Given the description of an element on the screen output the (x, y) to click on. 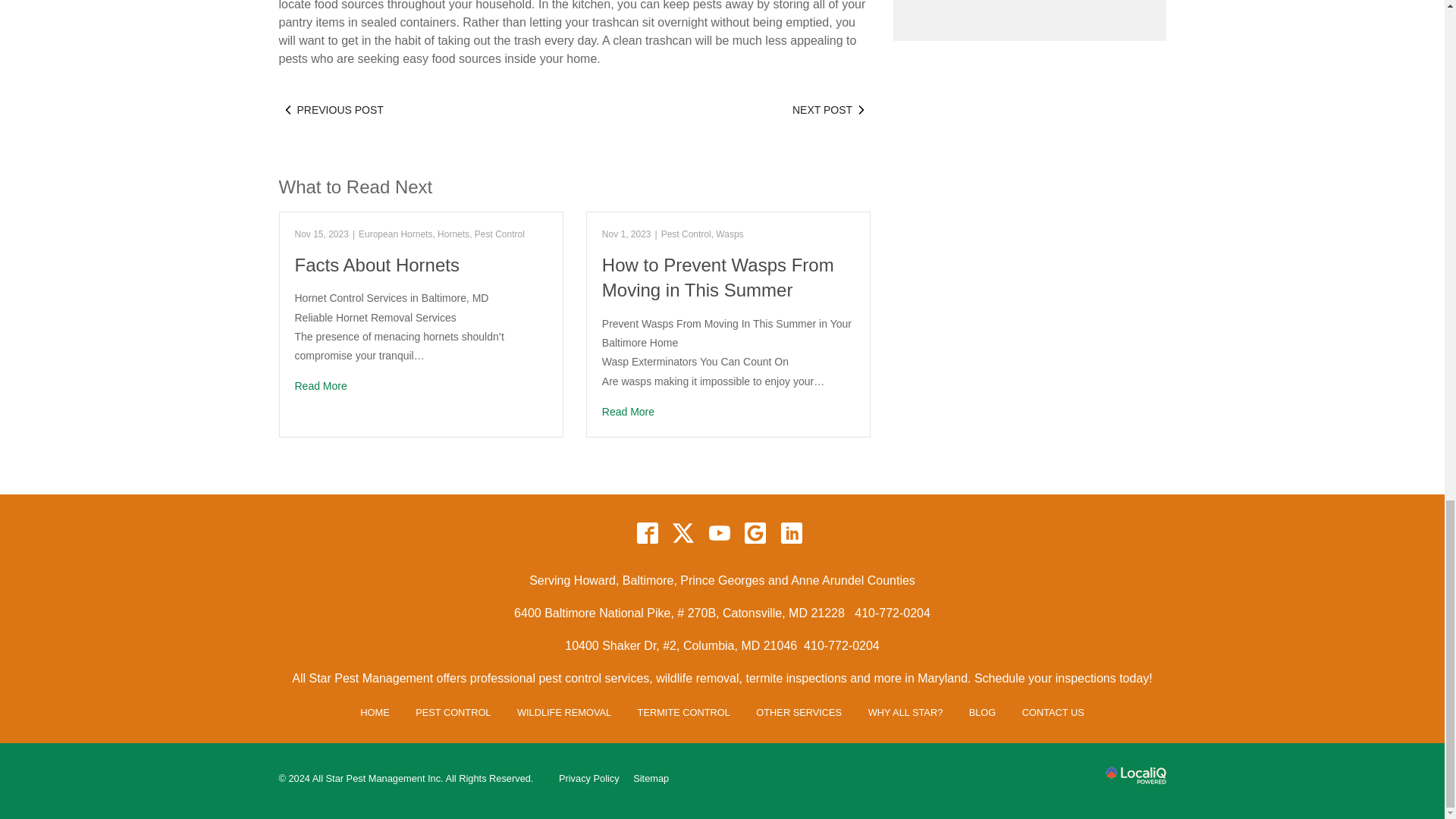
google (755, 532)
twitter (683, 532)
Facts About Hornets (420, 385)
youtube (719, 532)
facebook (646, 532)
linkedin (791, 532)
How to Prevent Wasps From Moving in This Summer (728, 411)
